Given the description of an element on the screen output the (x, y) to click on. 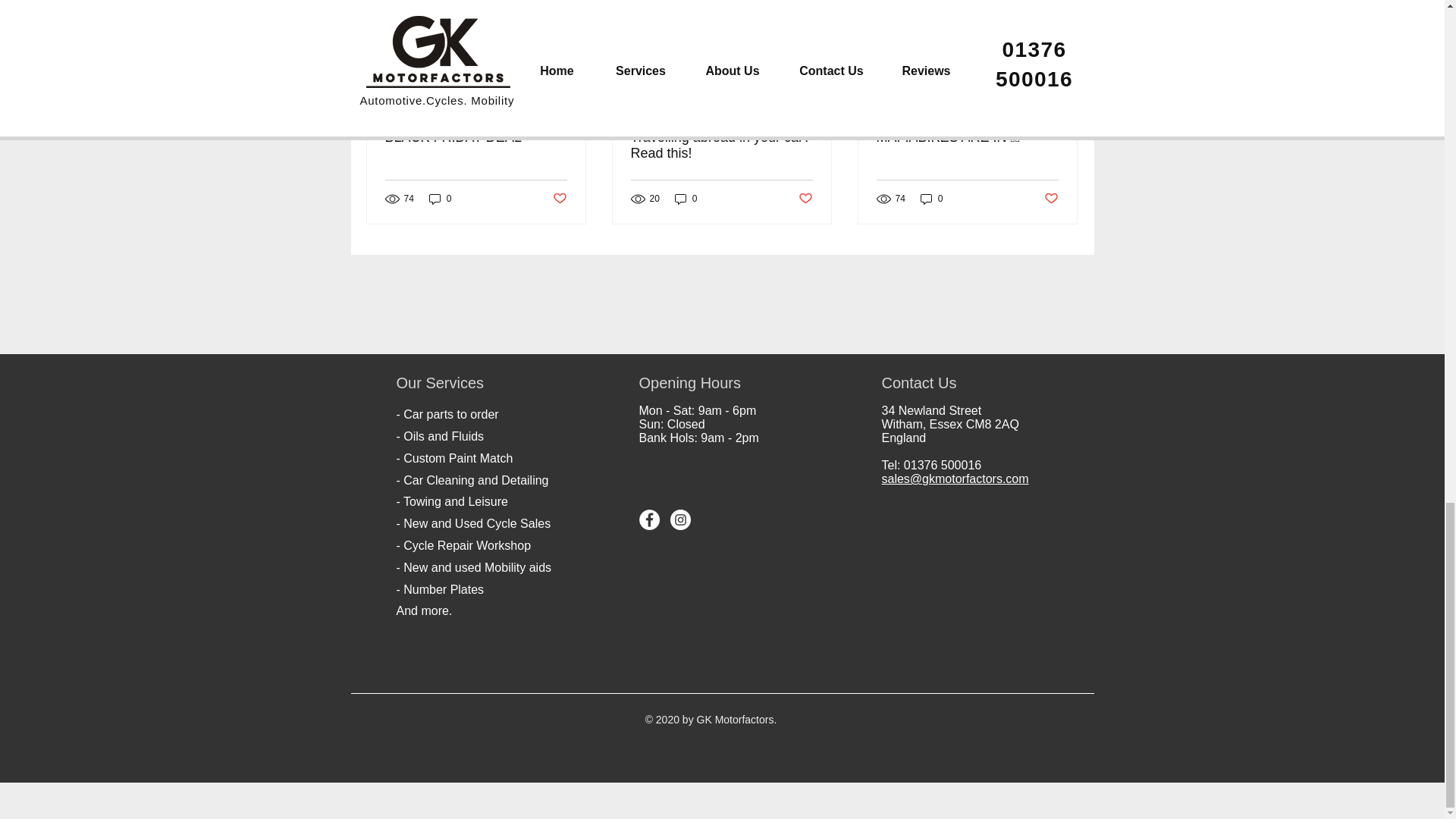
Travelling abroad in your car? Read this! (721, 145)
Post not marked as liked (804, 198)
Post not marked as liked (1050, 198)
0 (685, 198)
Post not marked as liked (558, 198)
0 (440, 198)
0 (931, 198)
BLACK FRIDAY DEAL (476, 137)
